Given the description of an element on the screen output the (x, y) to click on. 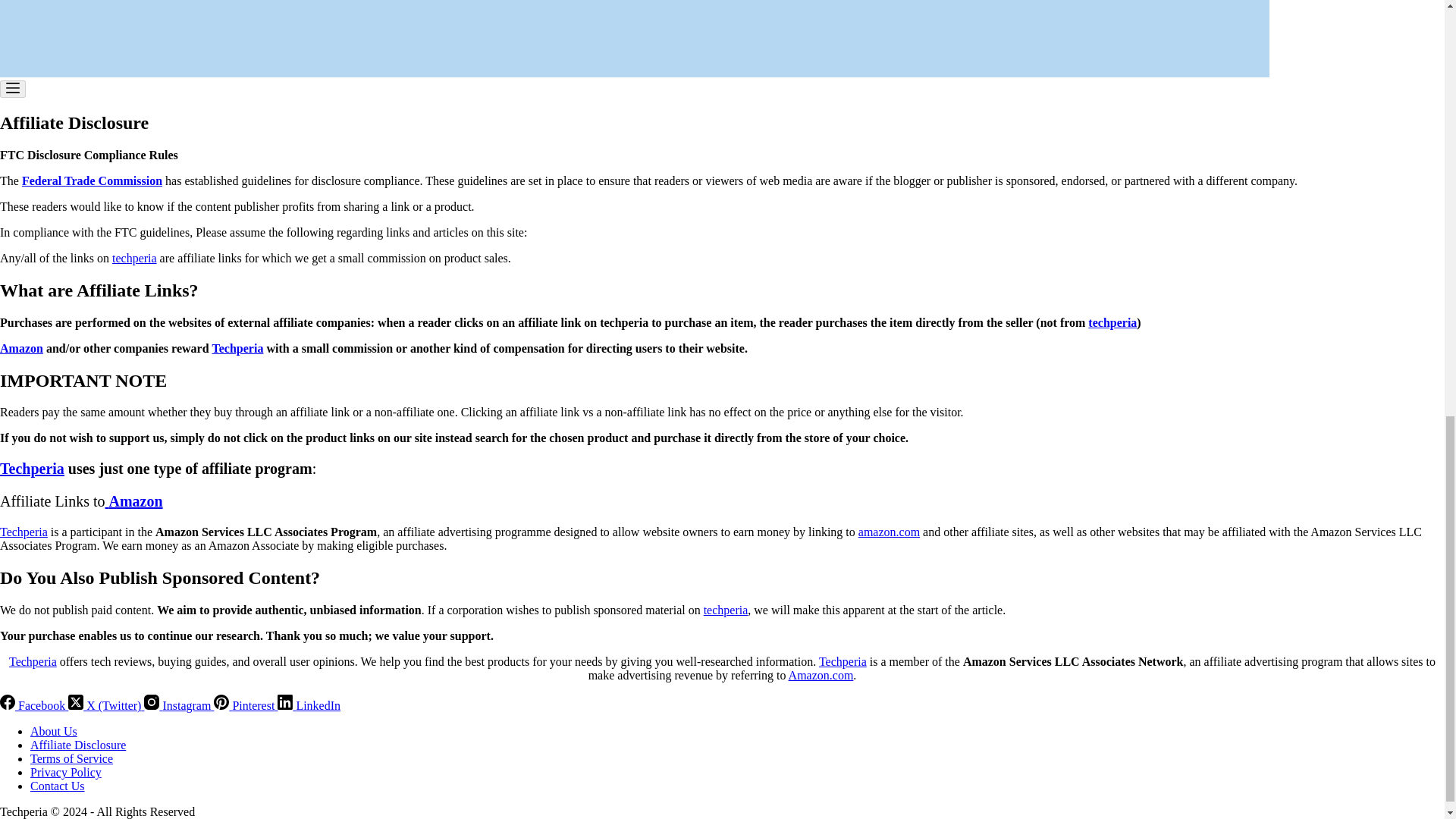
Techperia (32, 468)
Facebook (34, 705)
Techperia (842, 661)
Instagram (179, 705)
Federal Trade Commission (91, 180)
About Us (53, 730)
Amazon.com (821, 675)
techperia (725, 609)
Pinterest (246, 705)
LinkedIn (309, 705)
Amazon (132, 501)
Amazon (21, 348)
techperia (134, 257)
Techperia (24, 531)
Techperia (237, 348)
